Given the description of an element on the screen output the (x, y) to click on. 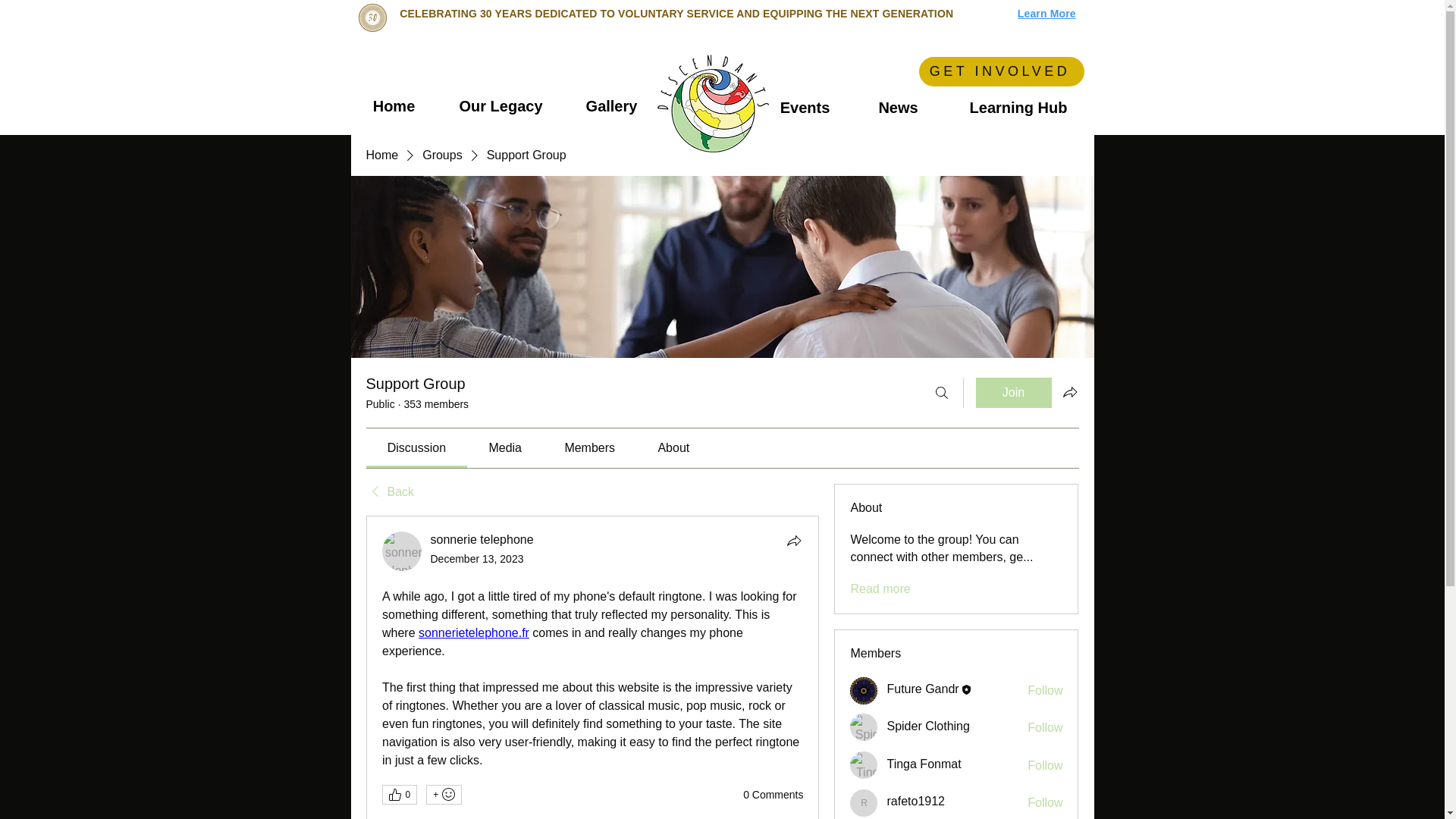
Tinga Fonmat (863, 764)
Groups (441, 155)
Follow (1044, 765)
News (898, 108)
Follow (1044, 690)
Home (381, 155)
Follow (1044, 802)
Join (1013, 392)
rafeto1912 (863, 802)
sonnerietelephone.fr (474, 632)
Spider Clothing (863, 727)
Read more (880, 588)
GET INVOLVED (1001, 71)
Events (805, 108)
